Given the description of an element on the screen output the (x, y) to click on. 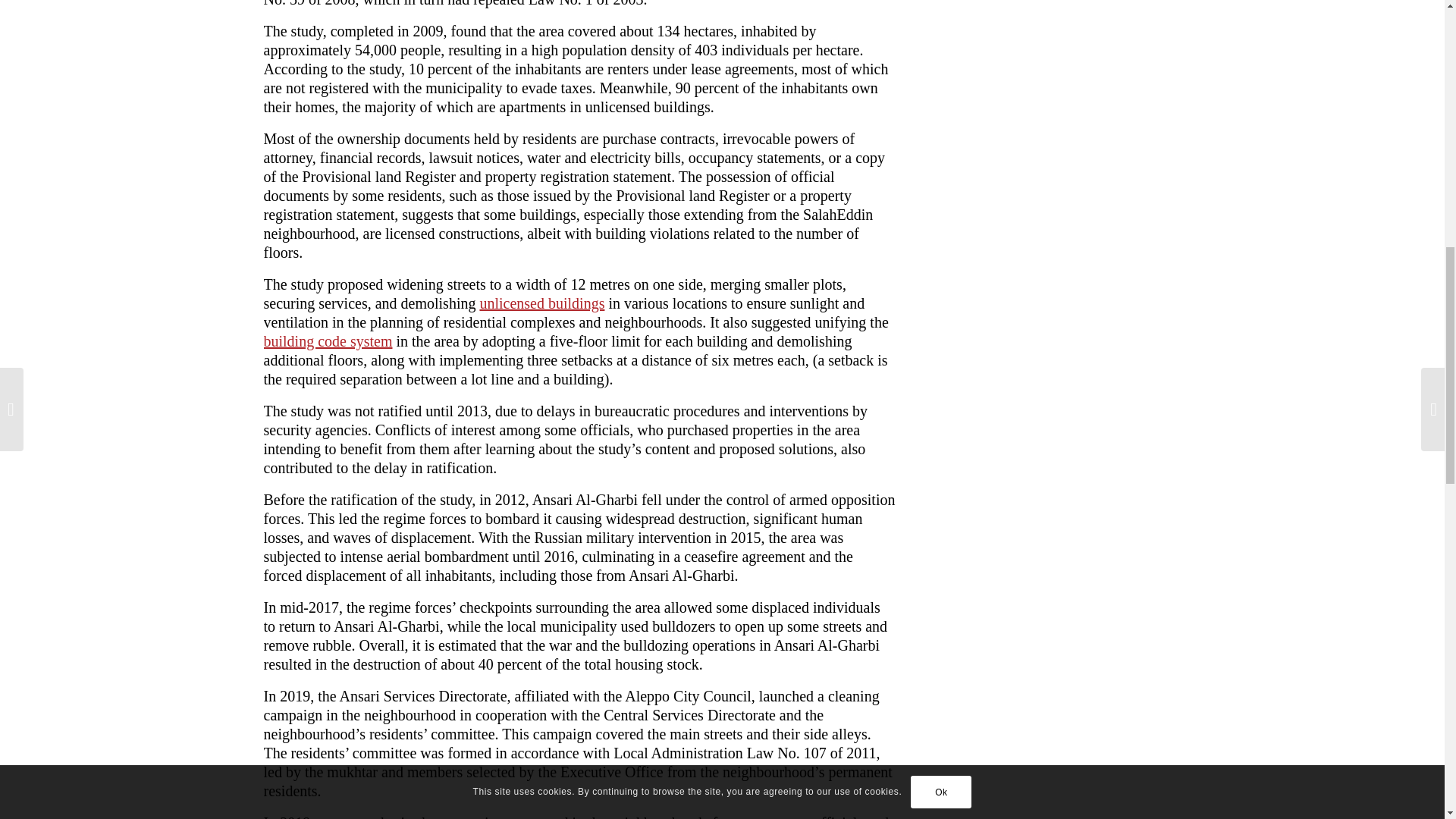
building code system (328, 340)
unlicensed buildings (541, 303)
